Given the description of an element on the screen output the (x, y) to click on. 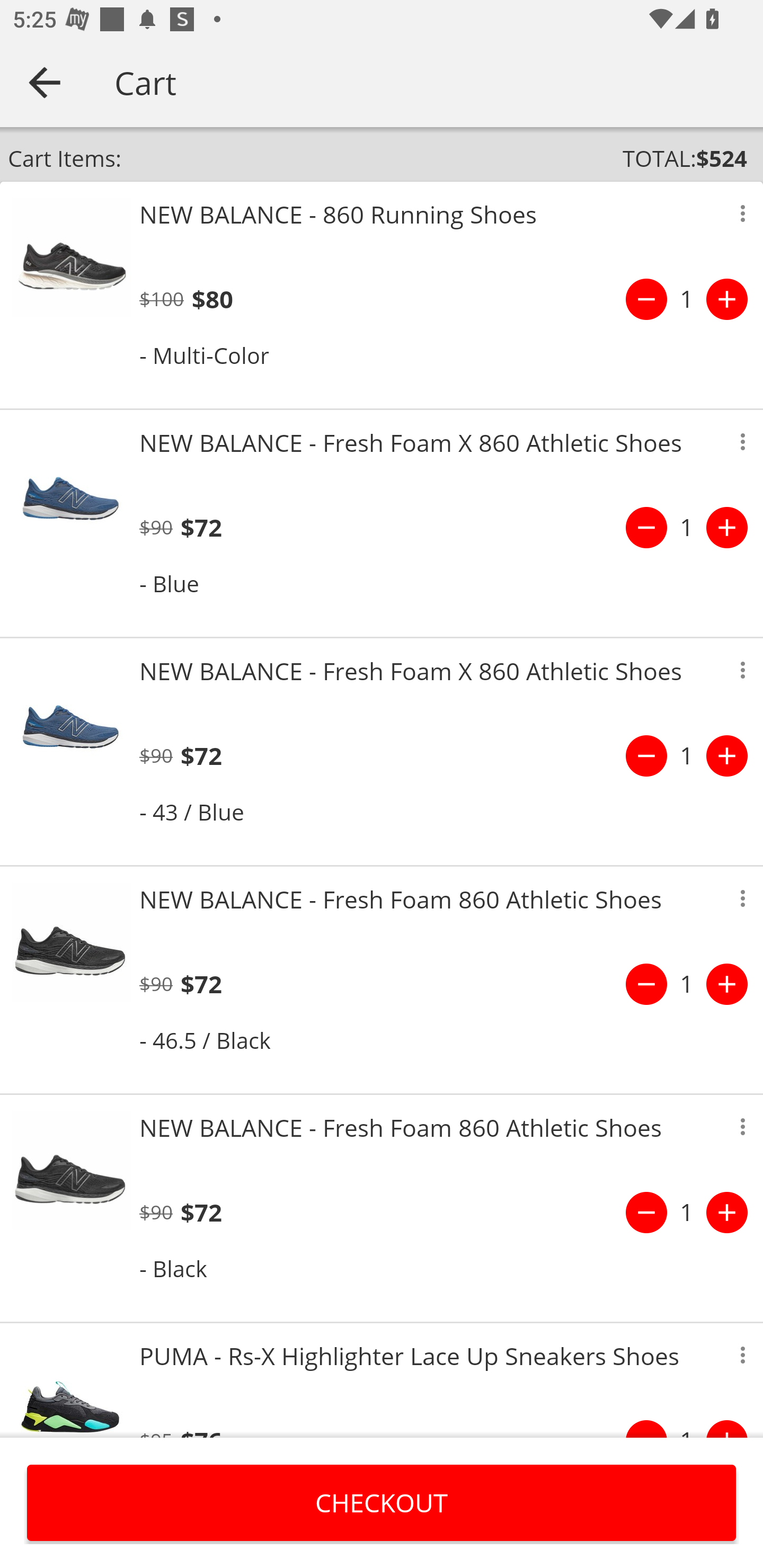
Navigate up (44, 82)
1 (686, 299)
1 (686, 527)
1 (686, 755)
1 (686, 984)
1 (686, 1211)
CHECKOUT (381, 1502)
